Given the description of an element on the screen output the (x, y) to click on. 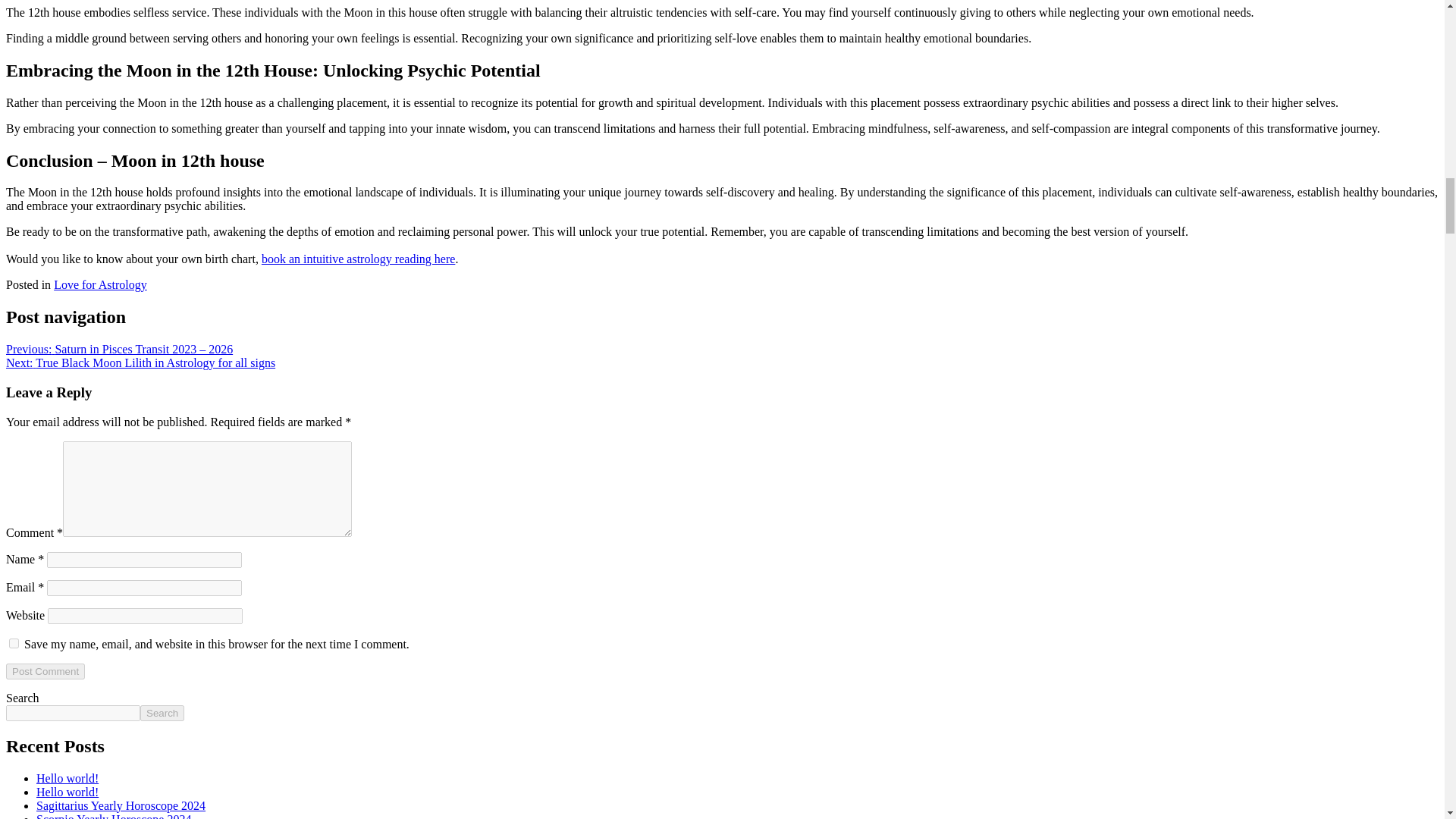
Love for Astrology (100, 284)
book an intuitive astrology reading here (358, 258)
Search (161, 713)
Sagittarius Yearly Horoscope 2024 (120, 805)
yes (13, 643)
Scorpio Yearly Horoscope 2024 (113, 816)
Hello world! (67, 778)
Post Comment (44, 671)
Hello world! (67, 791)
Post Comment (44, 671)
Next: True Black Moon Lilith in Astrology for all signs (140, 362)
